Given the description of an element on the screen output the (x, y) to click on. 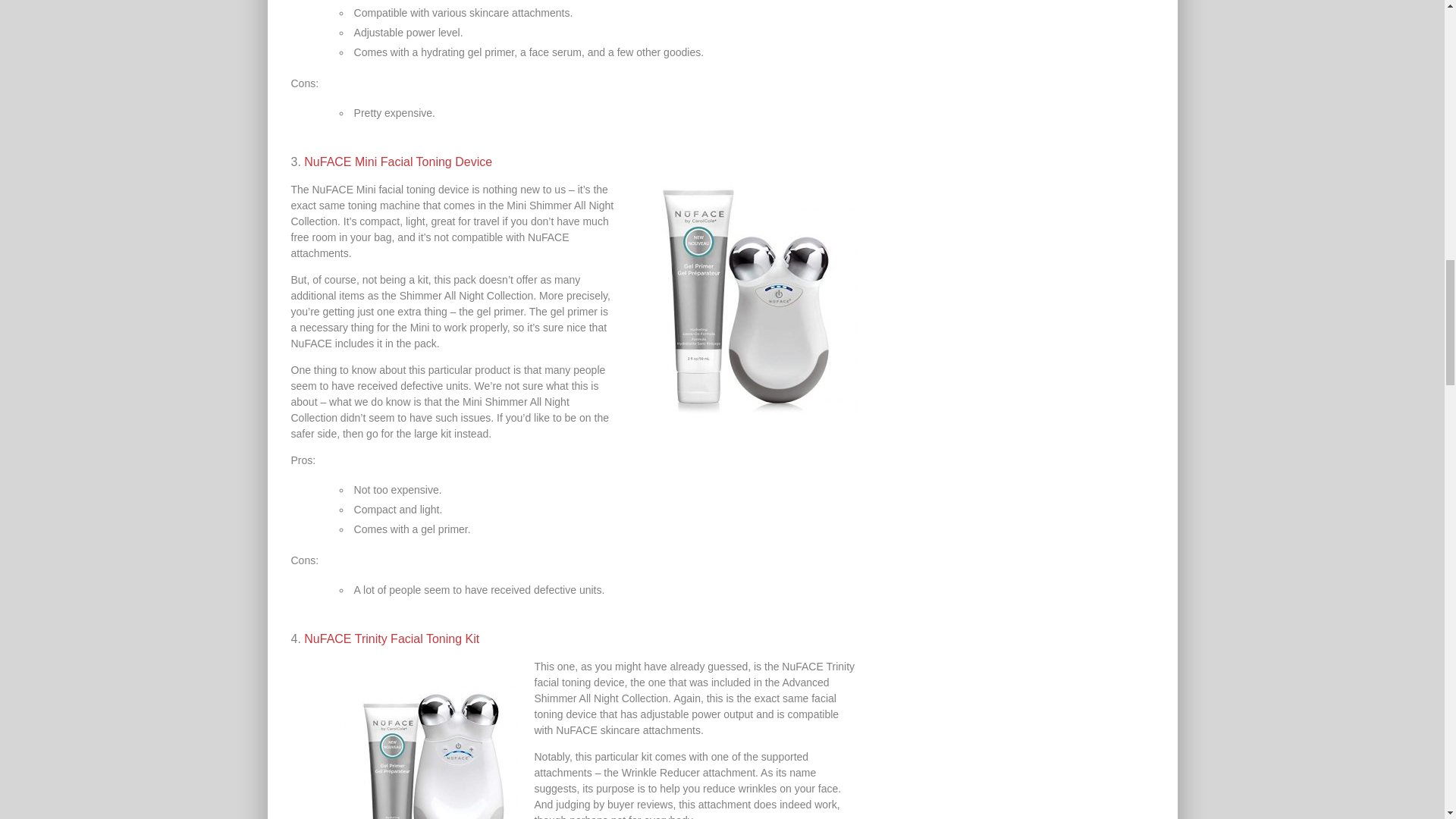
NuFACE Trinity Facial Toning Kit (391, 638)
NuFACE Mini Facial Toning Device (398, 161)
